Given the description of an element on the screen output the (x, y) to click on. 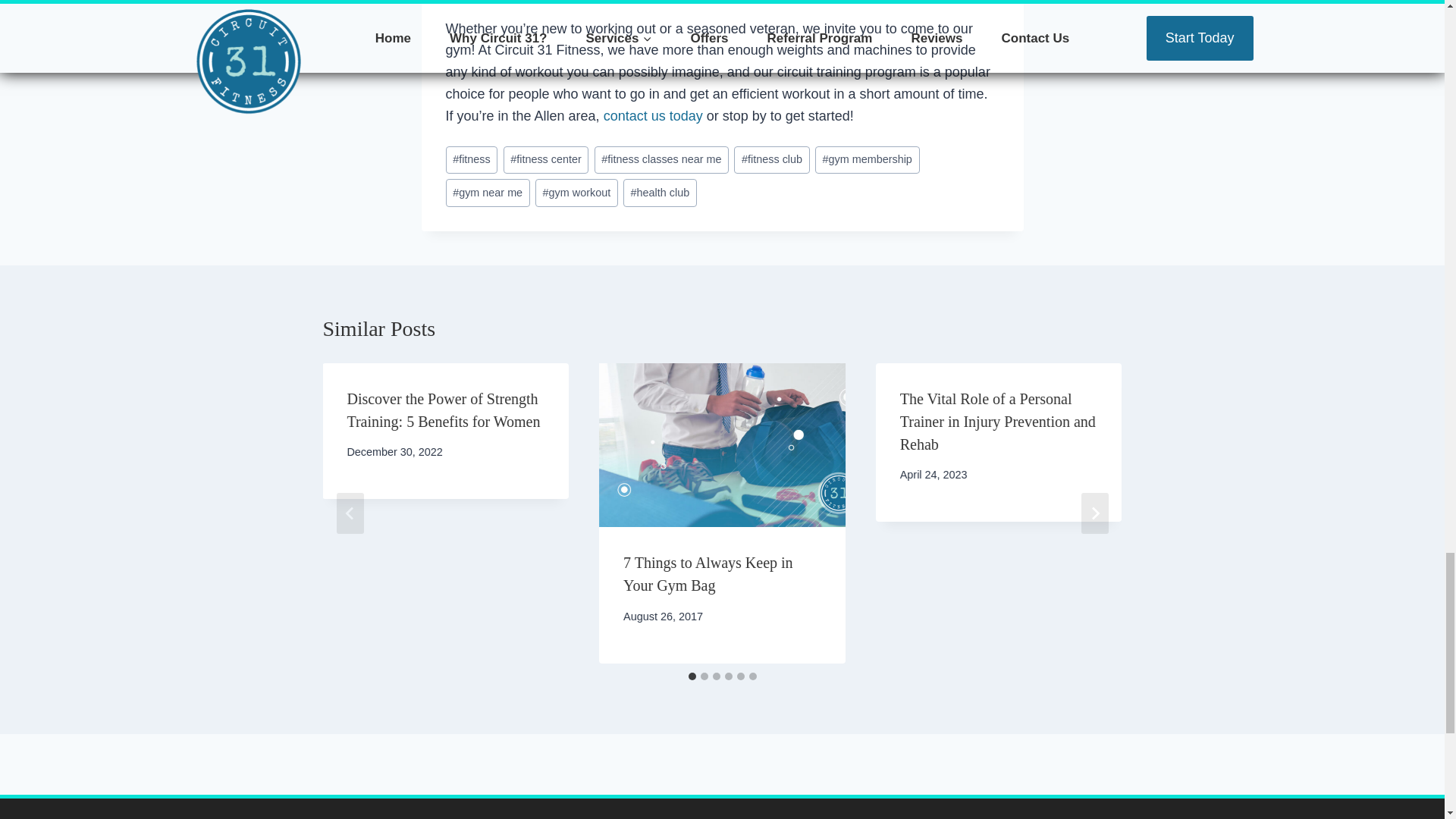
gym membership (867, 160)
fitness center (546, 160)
health club (660, 193)
contact us today (653, 115)
gym workout (576, 193)
fitness club (771, 160)
fitness classes near me (661, 160)
fitness (471, 160)
gym near me (487, 193)
